Given the description of an element on the screen output the (x, y) to click on. 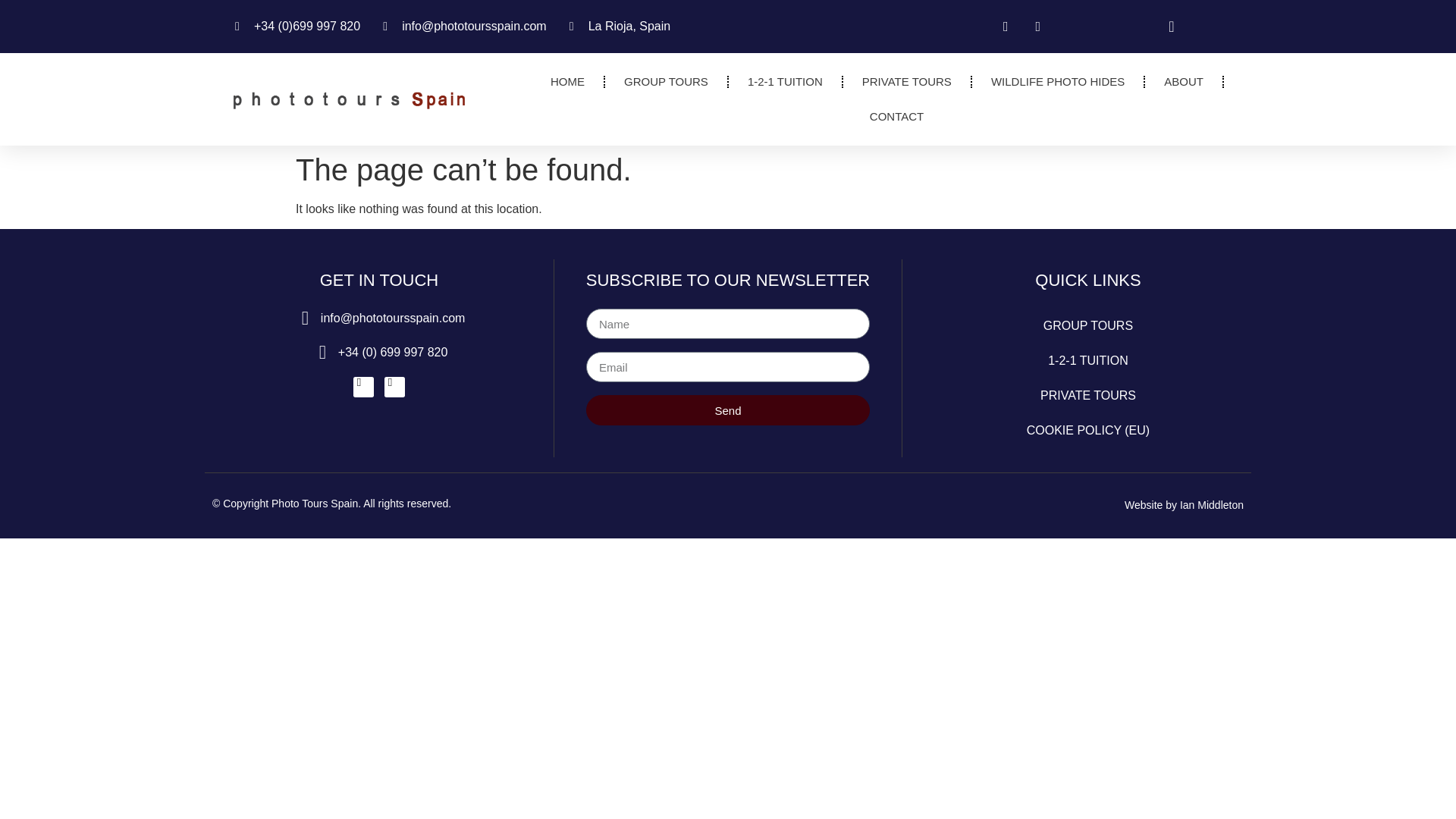
La Rioja, Spain (620, 26)
HOME (567, 81)
ABOUT (1183, 81)
GROUP TOURS (665, 81)
CONTACT (896, 116)
Send (727, 409)
1-2-1 TUITION (785, 81)
WILDLIFE PHOTO HIDES (1057, 81)
PRIVATE TOURS (906, 81)
GROUP TOURS (1088, 325)
